Given the description of an element on the screen output the (x, y) to click on. 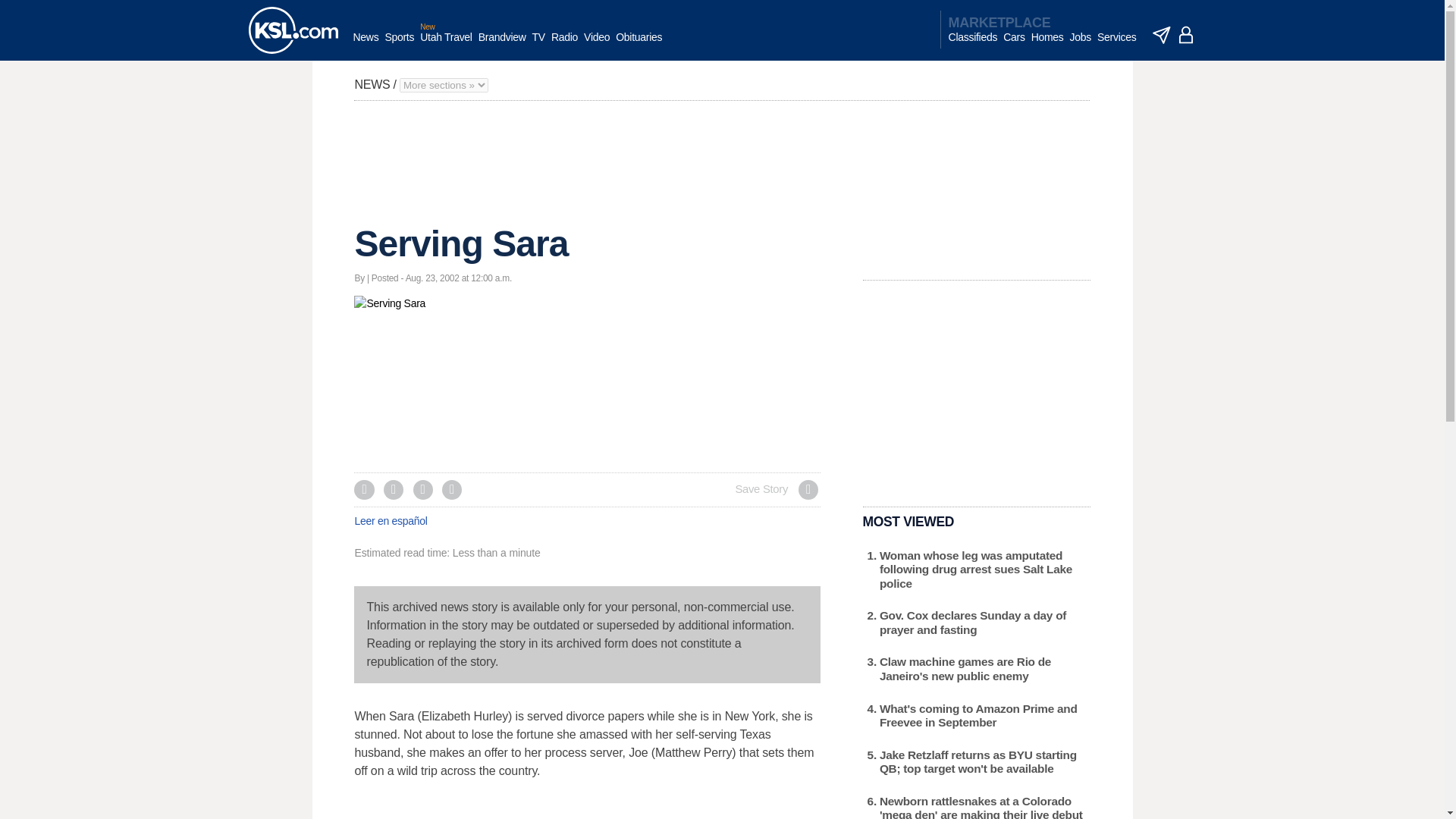
KSL homepage (292, 29)
Sports (398, 45)
Brandview (502, 45)
Utah Travel (445, 45)
KSL homepage (292, 30)
account - logged out (1185, 34)
